Given the description of an element on the screen output the (x, y) to click on. 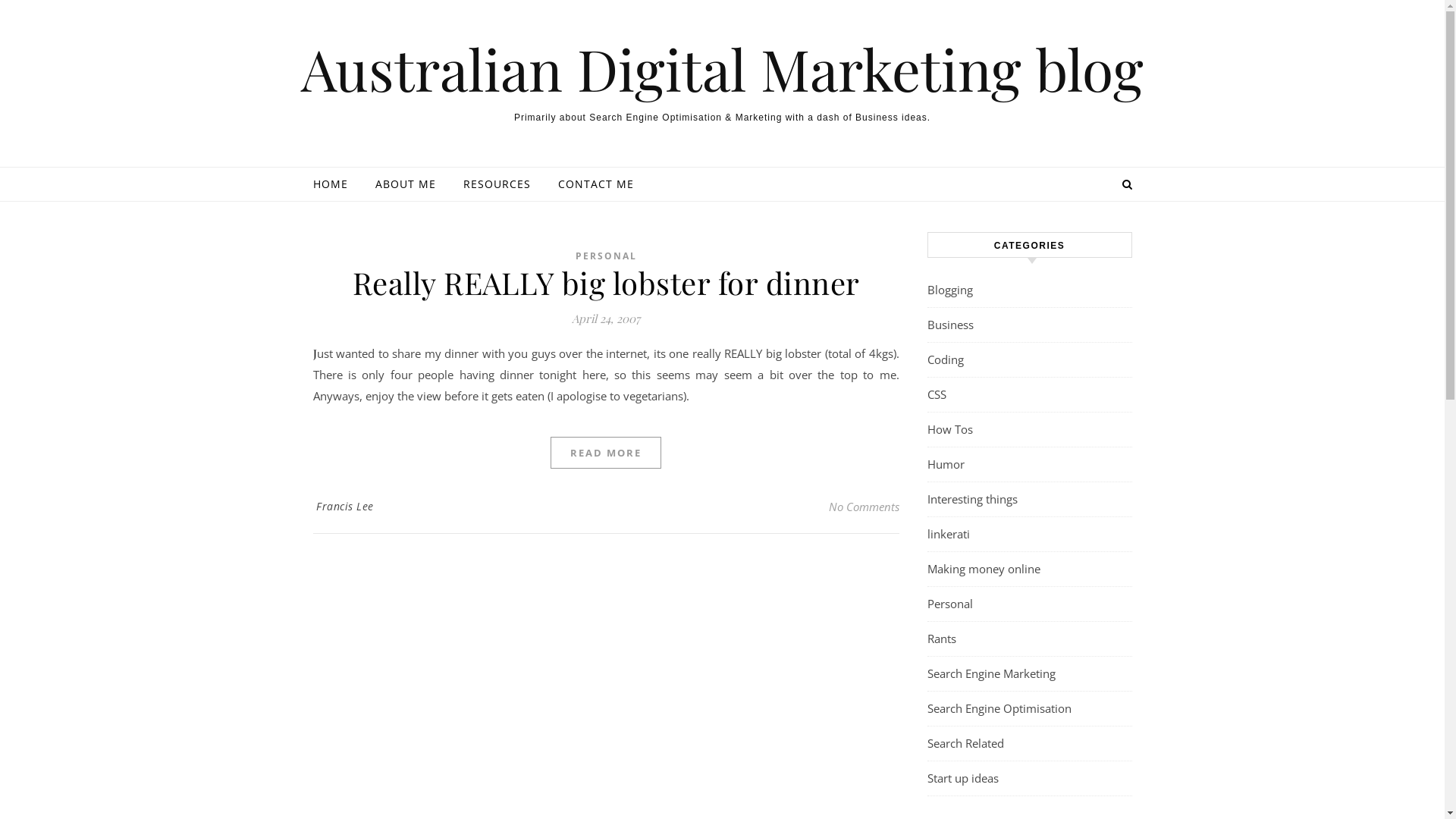
Humor Element type: text (944, 464)
Search Engine Optimisation Element type: text (998, 708)
ABOUT ME Element type: text (404, 183)
Business Element type: text (949, 324)
Blogging Element type: text (949, 290)
CSS Element type: text (935, 394)
RESOURCES Element type: text (496, 183)
HOME Element type: text (335, 183)
PERSONAL Element type: text (605, 255)
Start up ideas Element type: text (961, 778)
Francis Lee Element type: text (344, 506)
Search Related Element type: text (964, 743)
Australian Digital Marketing blog Element type: text (722, 68)
Really REALLY big lobster for dinner Element type: text (605, 282)
Personal Element type: text (949, 603)
CONTACT ME Element type: text (589, 183)
Making money online Element type: text (982, 569)
No Comments Element type: text (863, 506)
linkerati Element type: text (947, 534)
Search Engine Marketing Element type: text (990, 673)
Interesting things Element type: text (971, 499)
How Tos Element type: text (949, 429)
READ MORE Element type: text (605, 452)
Rants Element type: text (940, 638)
Coding Element type: text (944, 359)
